Given the description of an element on the screen output the (x, y) to click on. 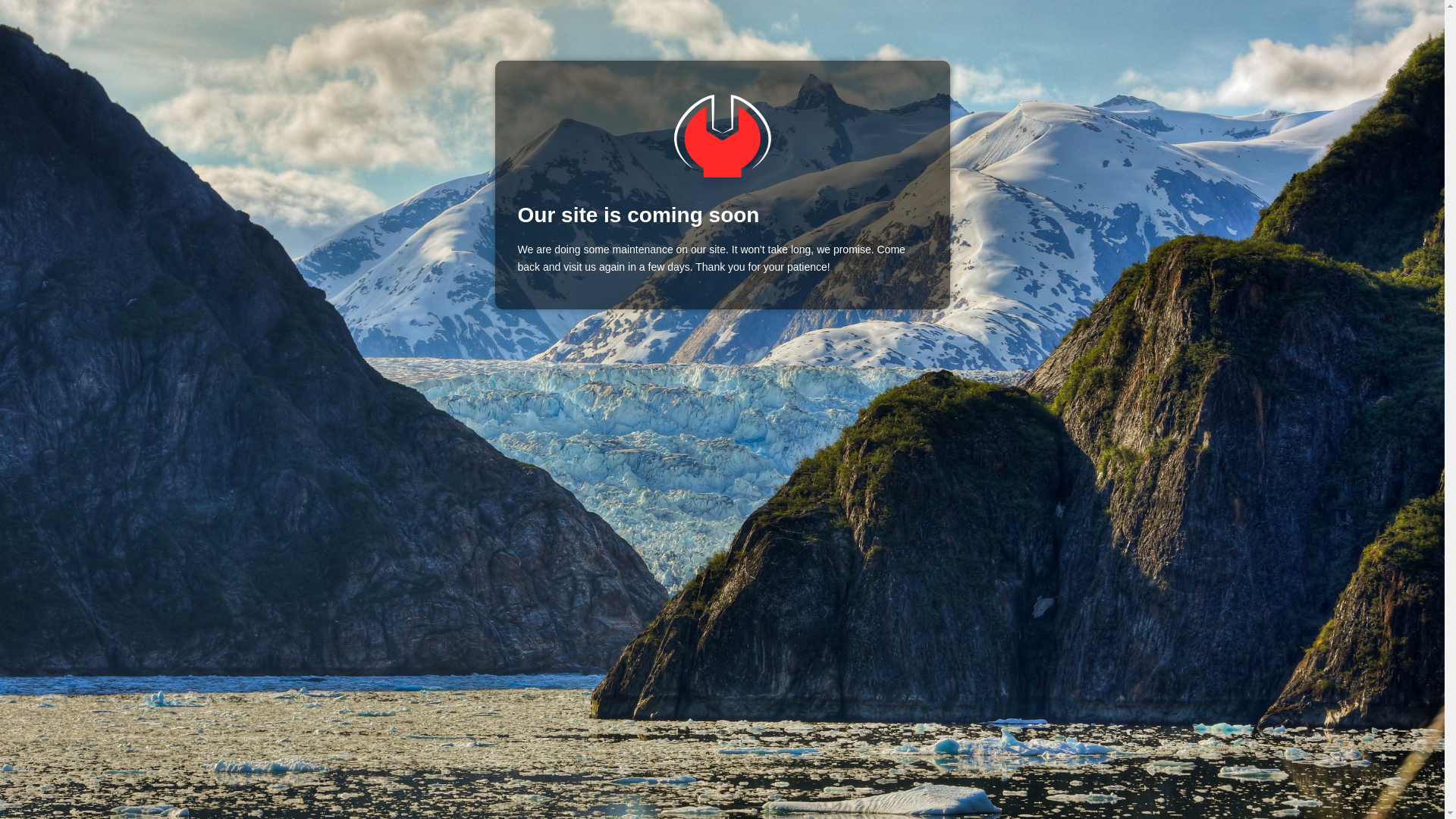
Find Open Days (721, 136)
